Given the description of an element on the screen output the (x, y) to click on. 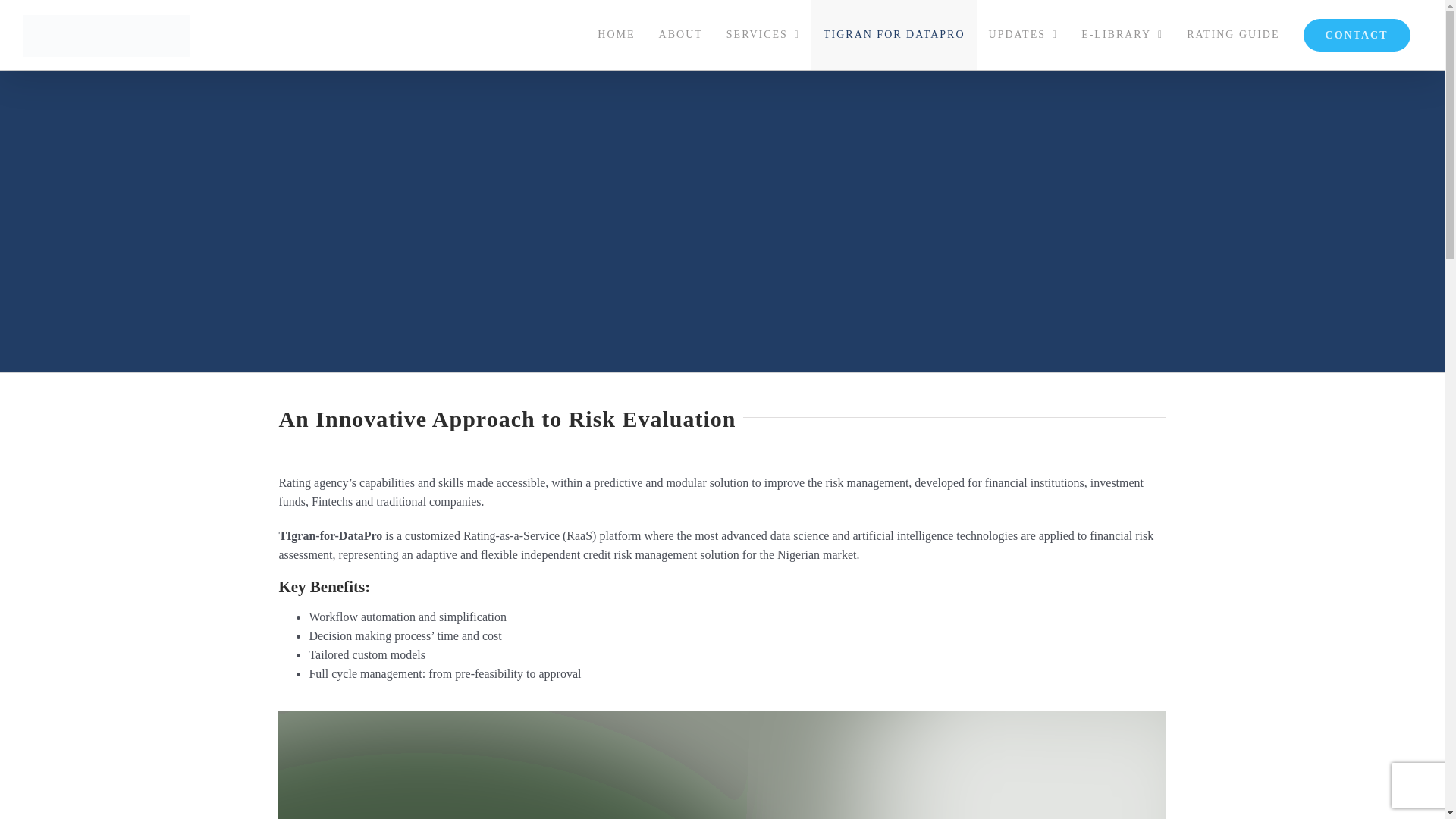
ABOUT (680, 34)
TIGRAN FOR DATAPRO (893, 34)
E-LIBRARY (1122, 34)
RATING GUIDE (1232, 34)
UPDATES (1023, 34)
CONTACT (1356, 34)
SERVICES (762, 34)
